Given the description of an element on the screen output the (x, y) to click on. 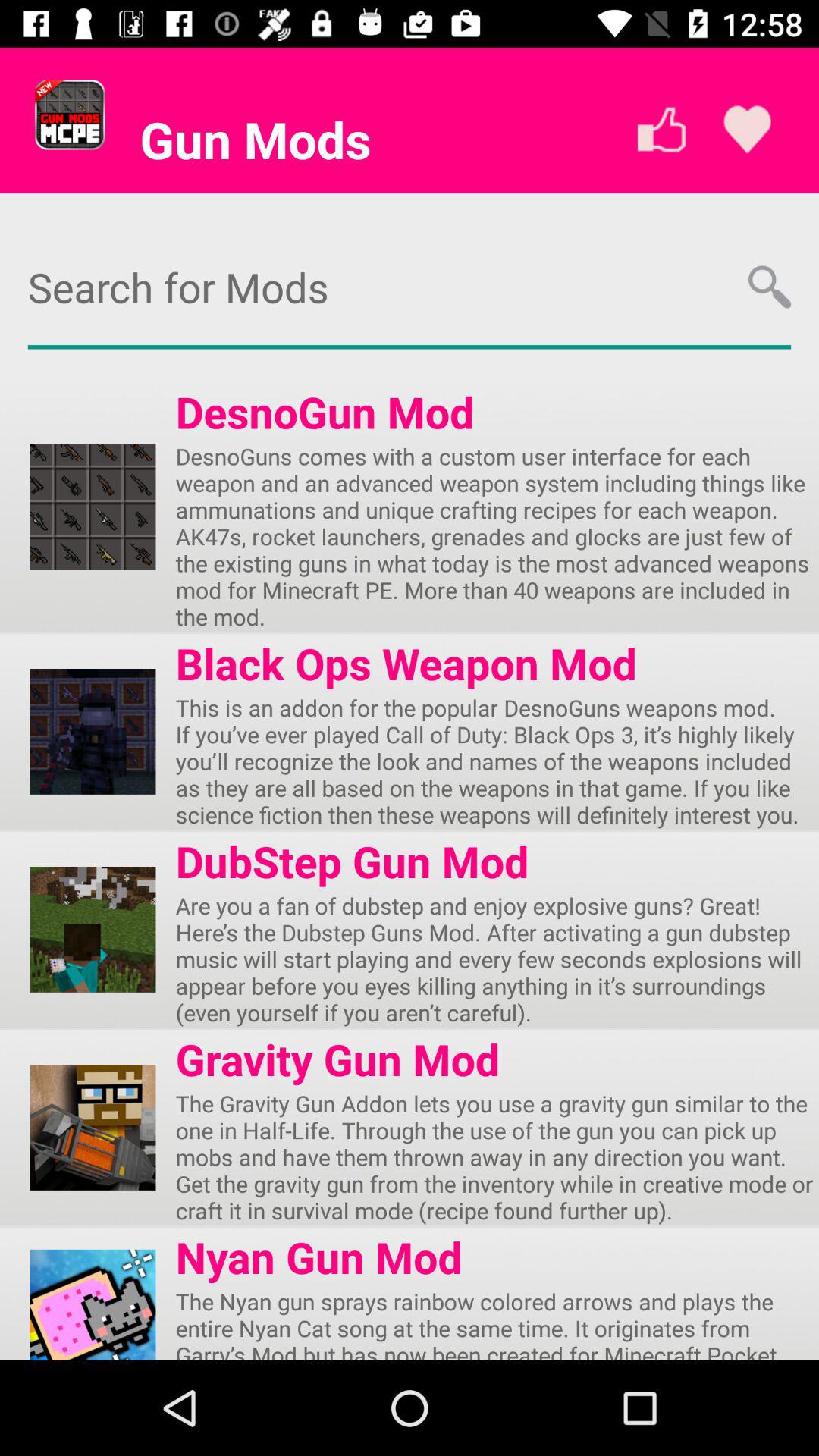
open the desnoguns comes with app (497, 535)
